Given the description of an element on the screen output the (x, y) to click on. 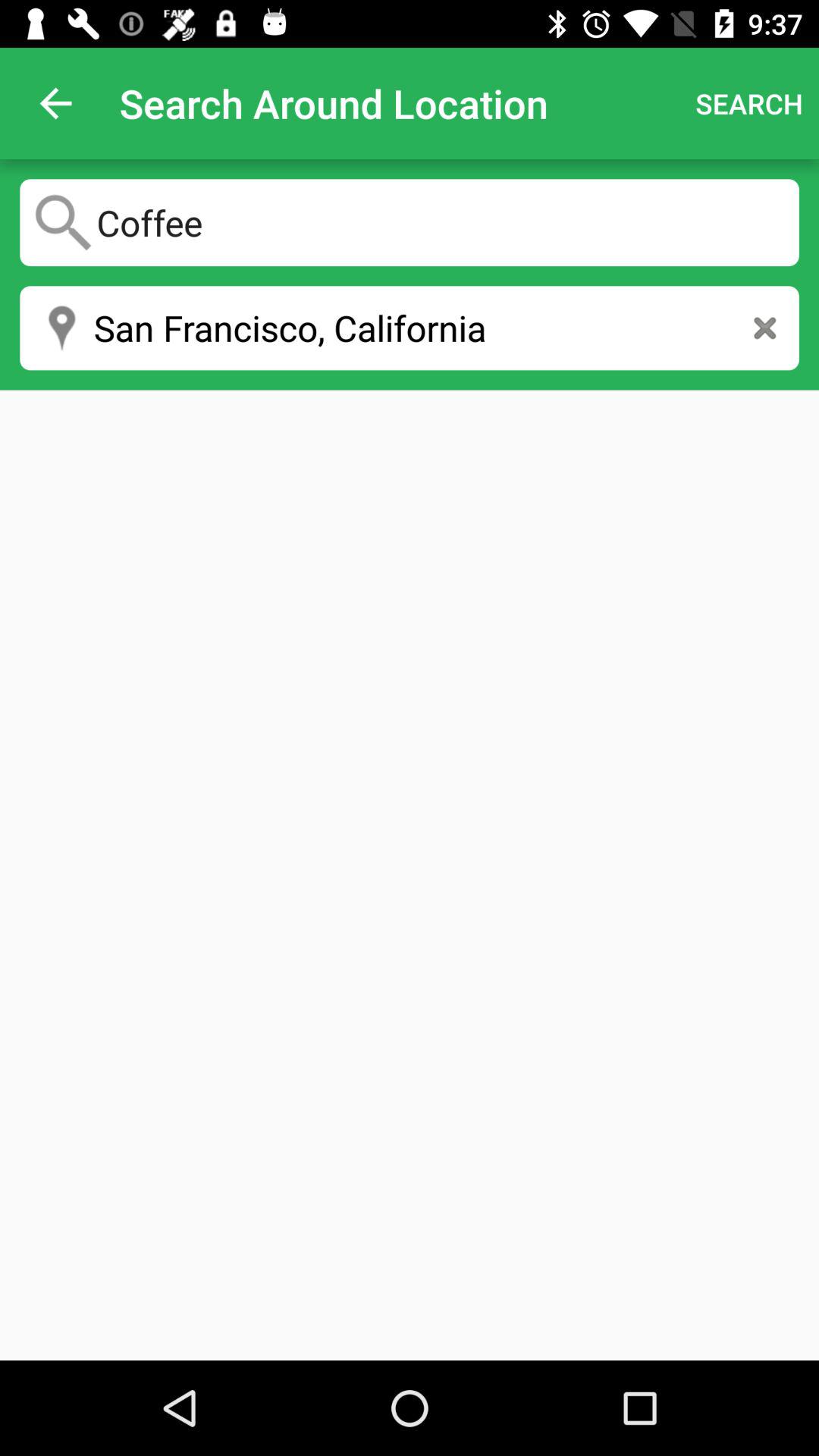
press the item at the top left corner (55, 103)
